Given the description of an element on the screen output the (x, y) to click on. 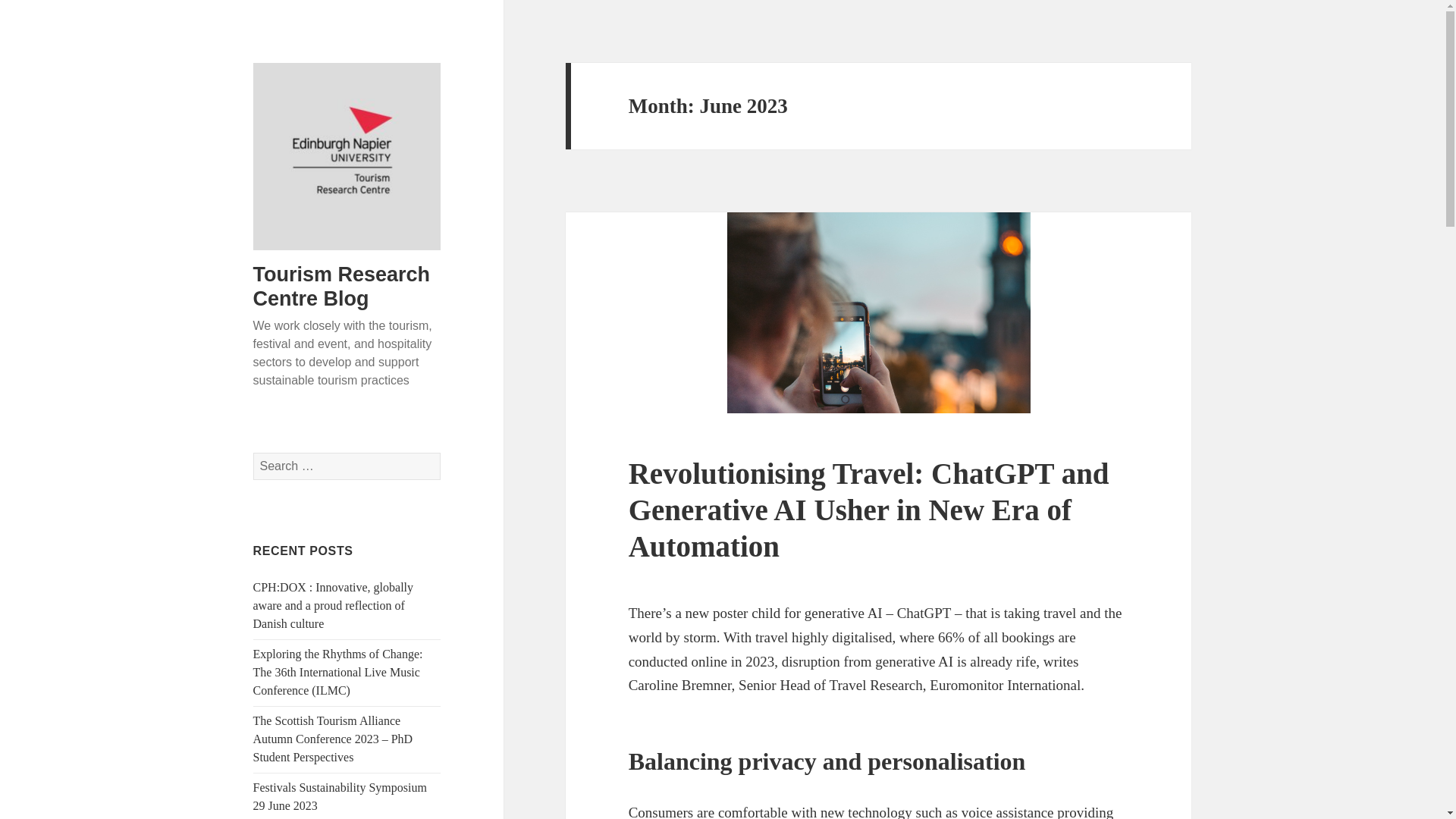
Tourism Research Centre Blog (341, 286)
Festivals Sustainability Symposium 29 June 2023 (339, 796)
